Given the description of an element on the screen output the (x, y) to click on. 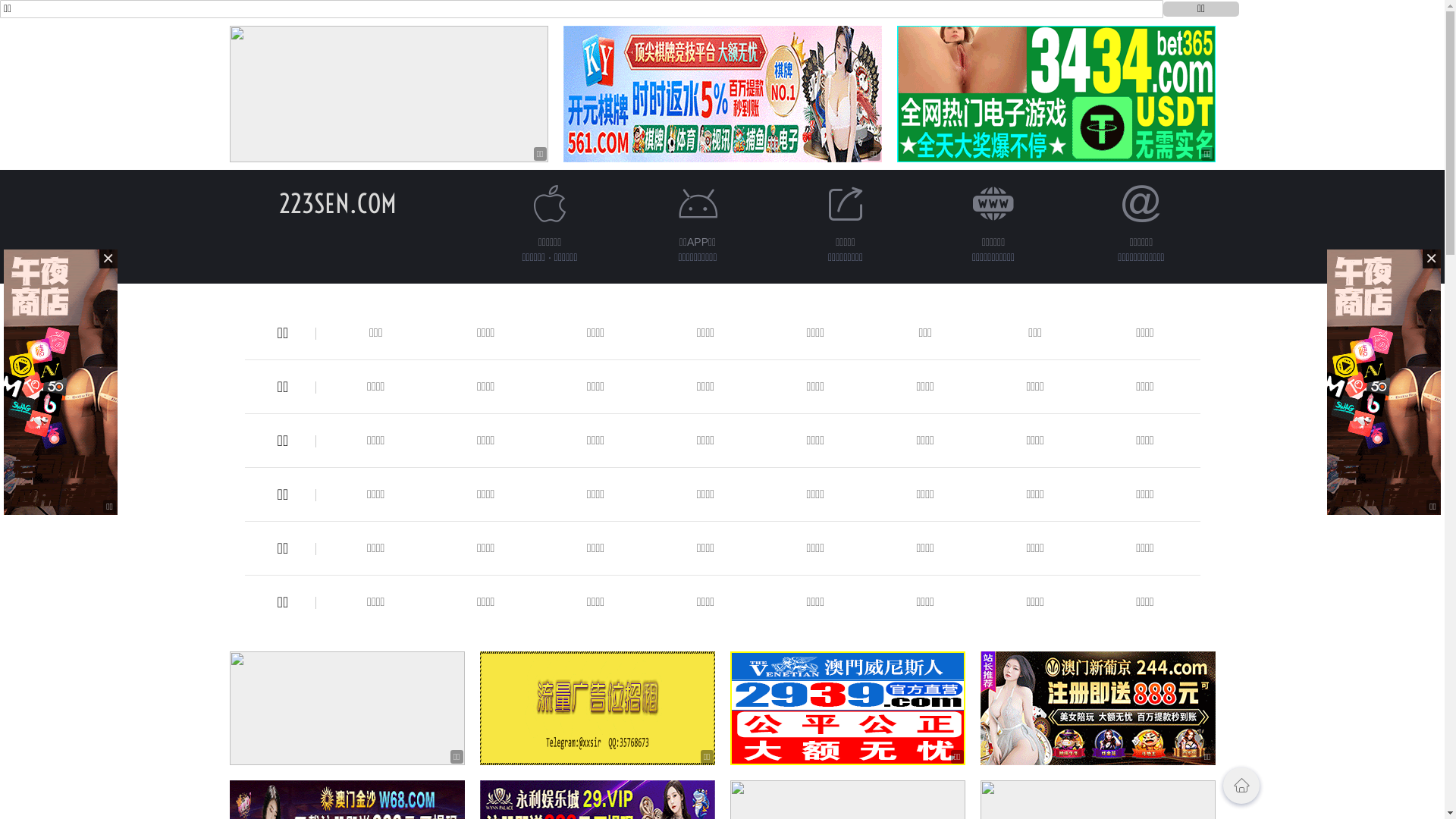
223SEN.COM Element type: text (337, 203)
